Given the description of an element on the screen output the (x, y) to click on. 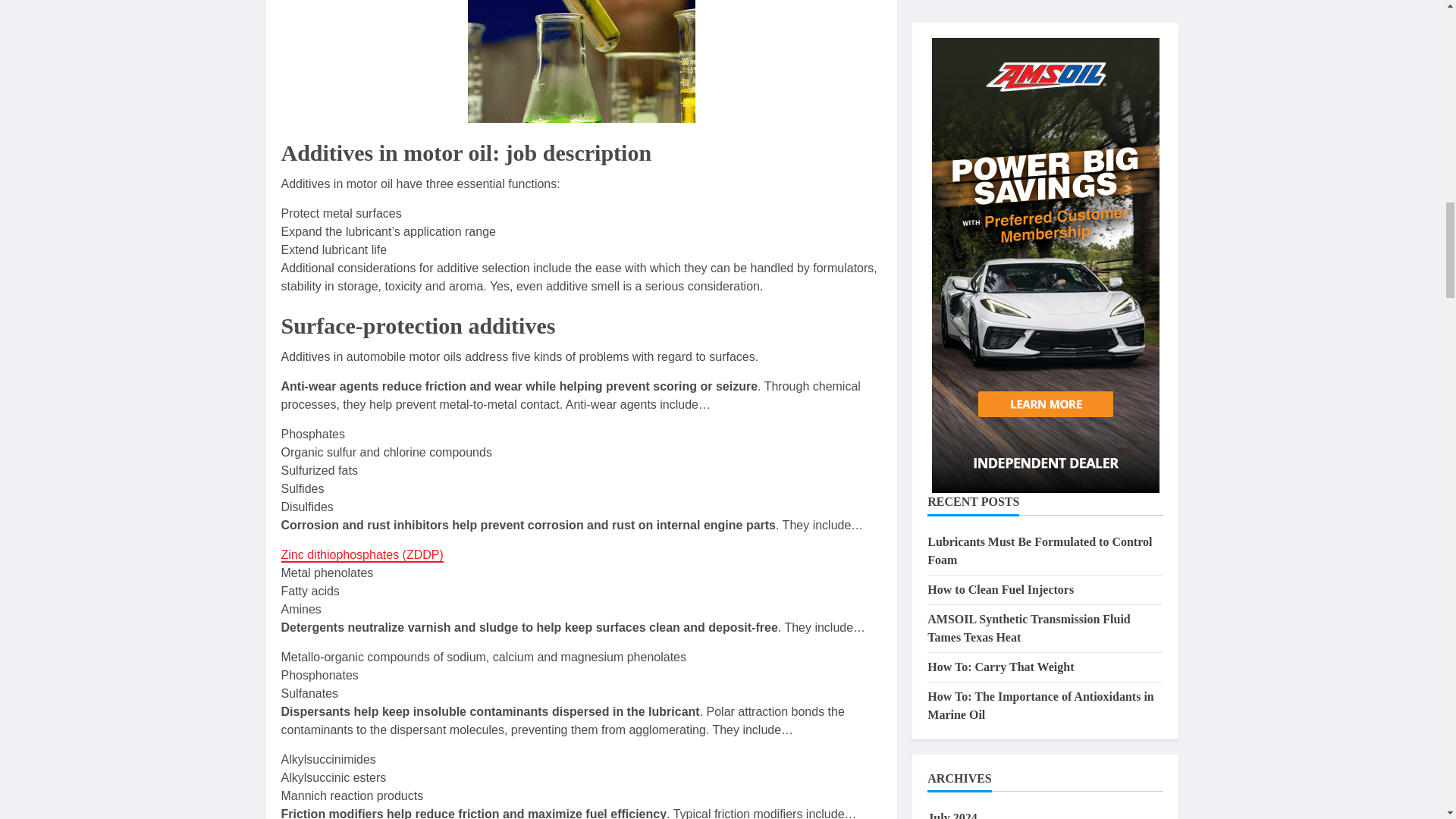
Do Older Engines Need Oil With ZDDP Additives? (360, 554)
